Given the description of an element on the screen output the (x, y) to click on. 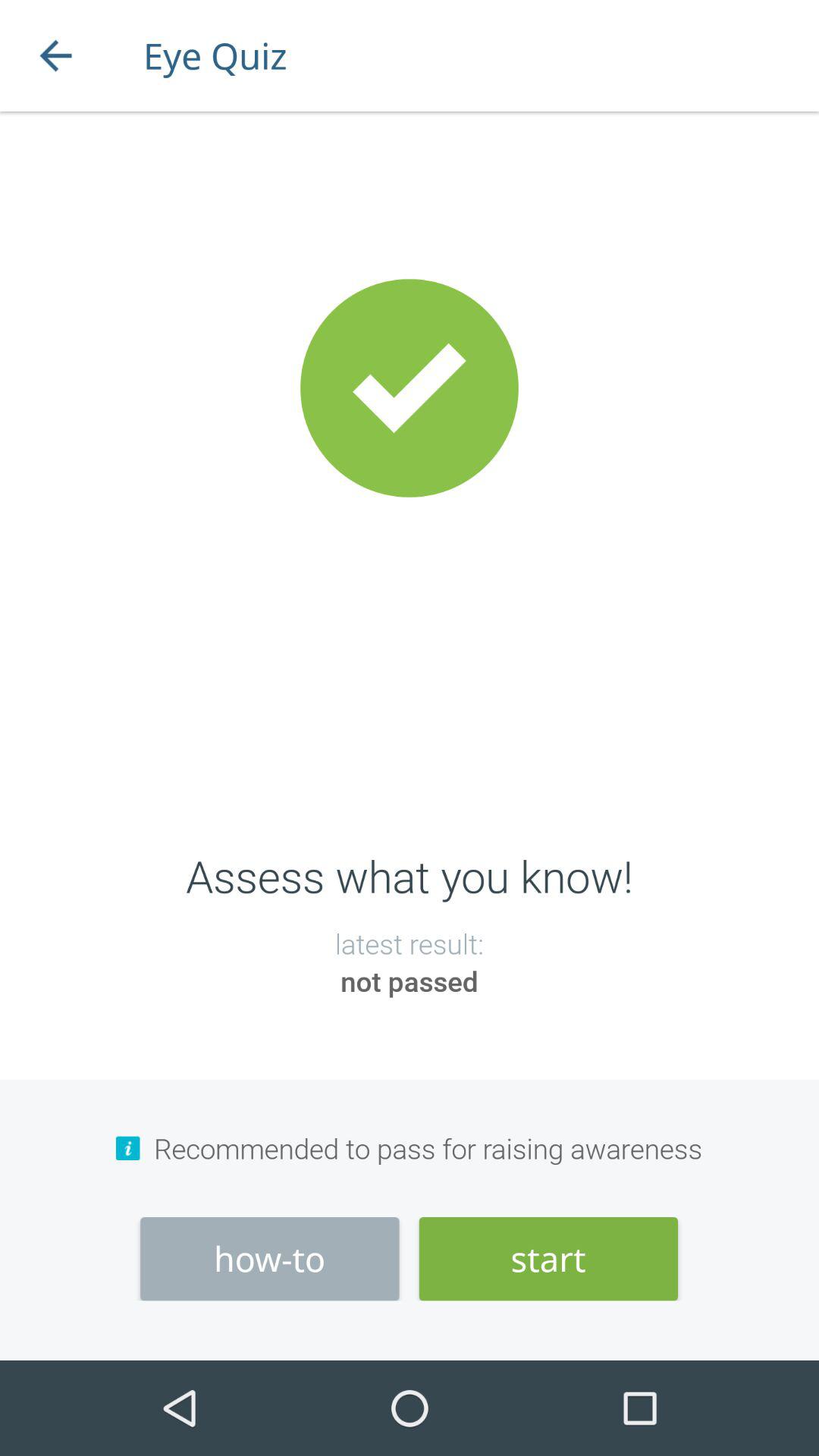
turn off the icon to the left of the start item (269, 1258)
